Given the description of an element on the screen output the (x, y) to click on. 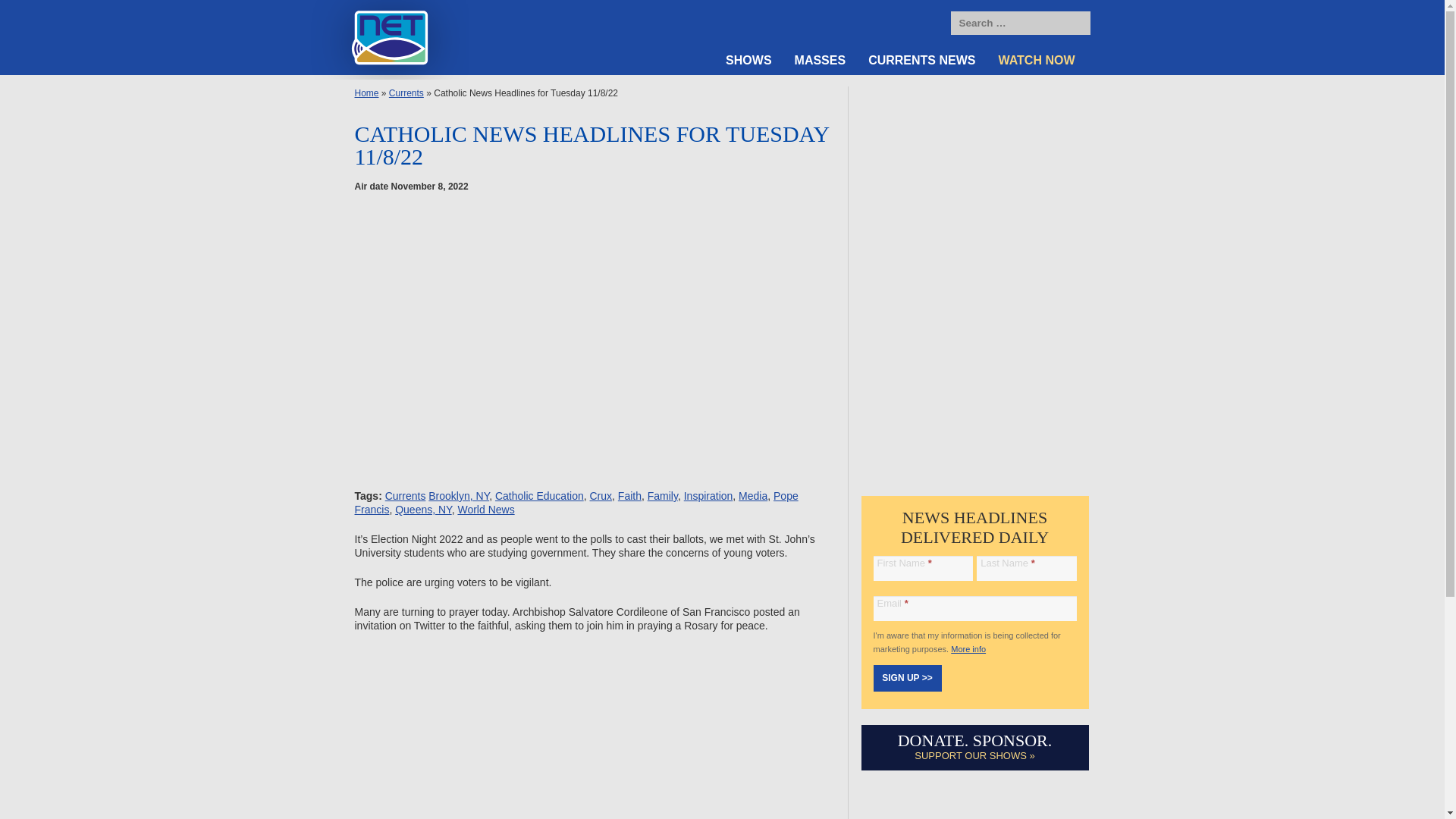
Search (1075, 23)
World News (485, 509)
DONATE. SPONSOR. (975, 740)
More info (967, 648)
Media (752, 495)
Crux (600, 495)
Family (662, 495)
SHOWS (748, 60)
CURRENTS NEWS (922, 60)
Search (1075, 23)
